Given the description of an element on the screen output the (x, y) to click on. 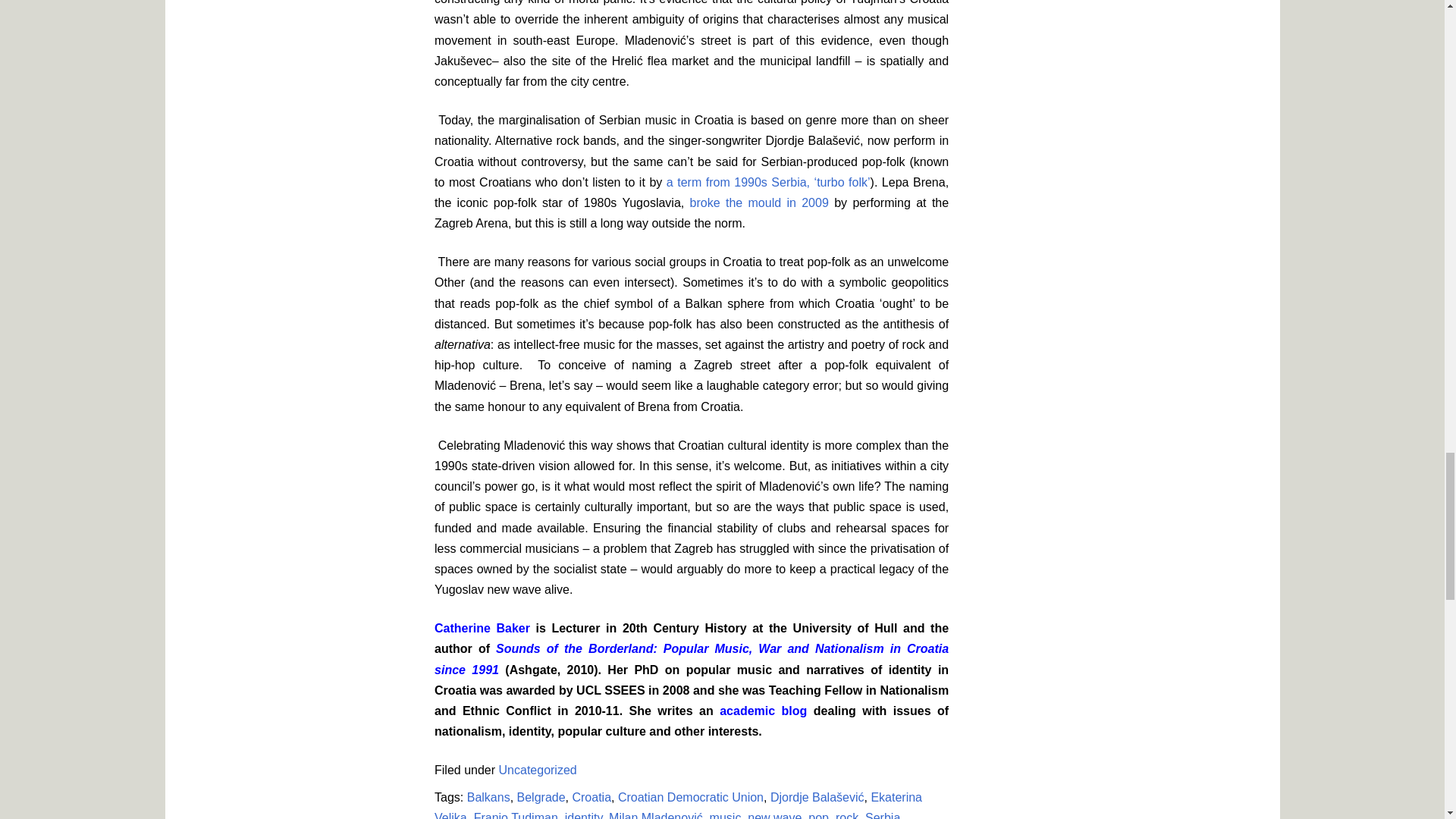
Catherine Baker blog (762, 710)
Sounds of the Borderland (691, 658)
Catherine Baker Hull profile (481, 627)
